Given the description of an element on the screen output the (x, y) to click on. 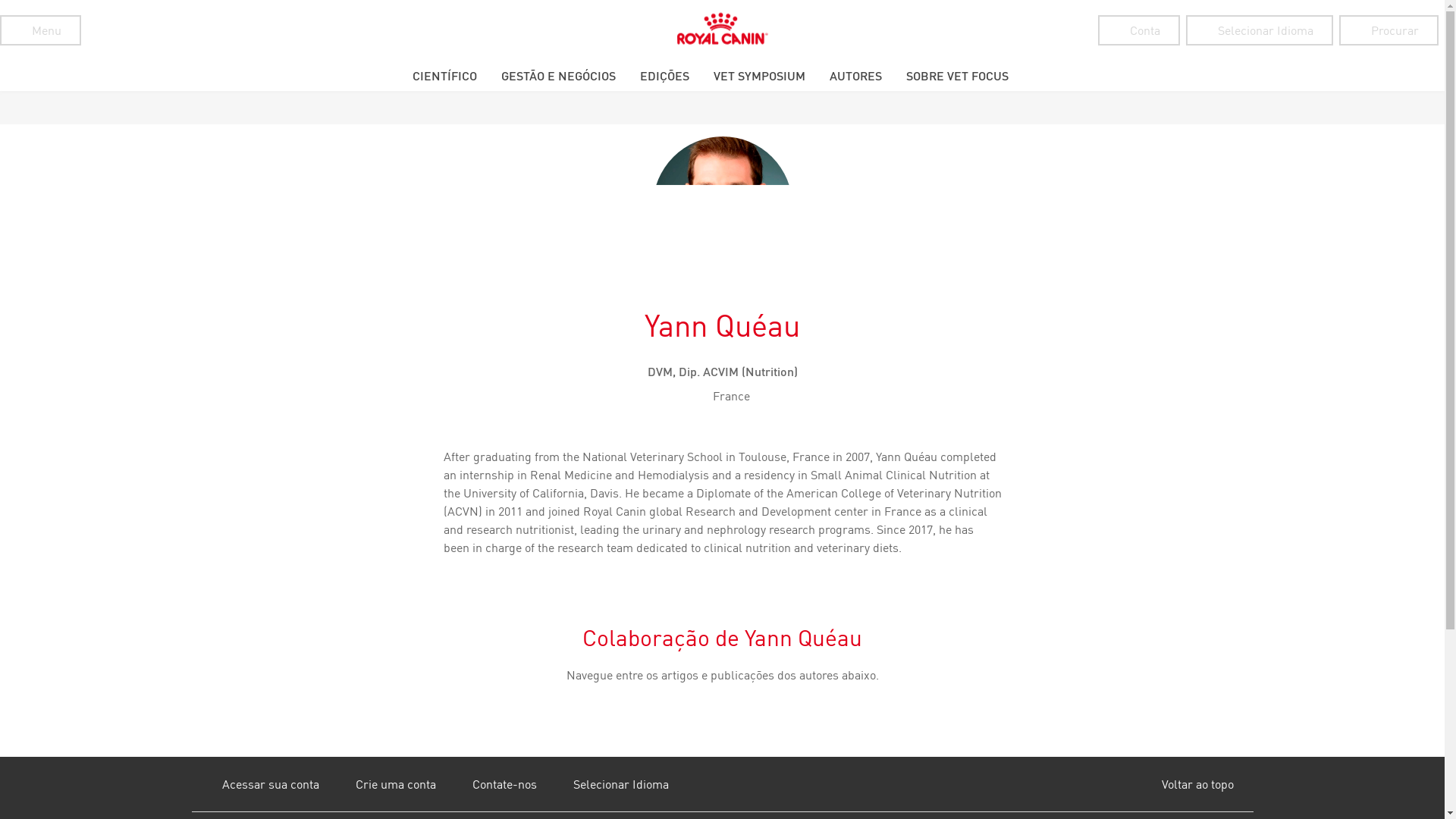
Scientific (444, 75)
About Vet Focus (956, 75)
Vet Symposium (759, 75)
Procurar (1388, 30)
Contate-nos (488, 784)
Practice Management (557, 75)
Conta (1138, 30)
Selecionar Idioma (605, 784)
Authors (855, 75)
SOBRE VET FOCUS (956, 75)
